Given the description of an element on the screen output the (x, y) to click on. 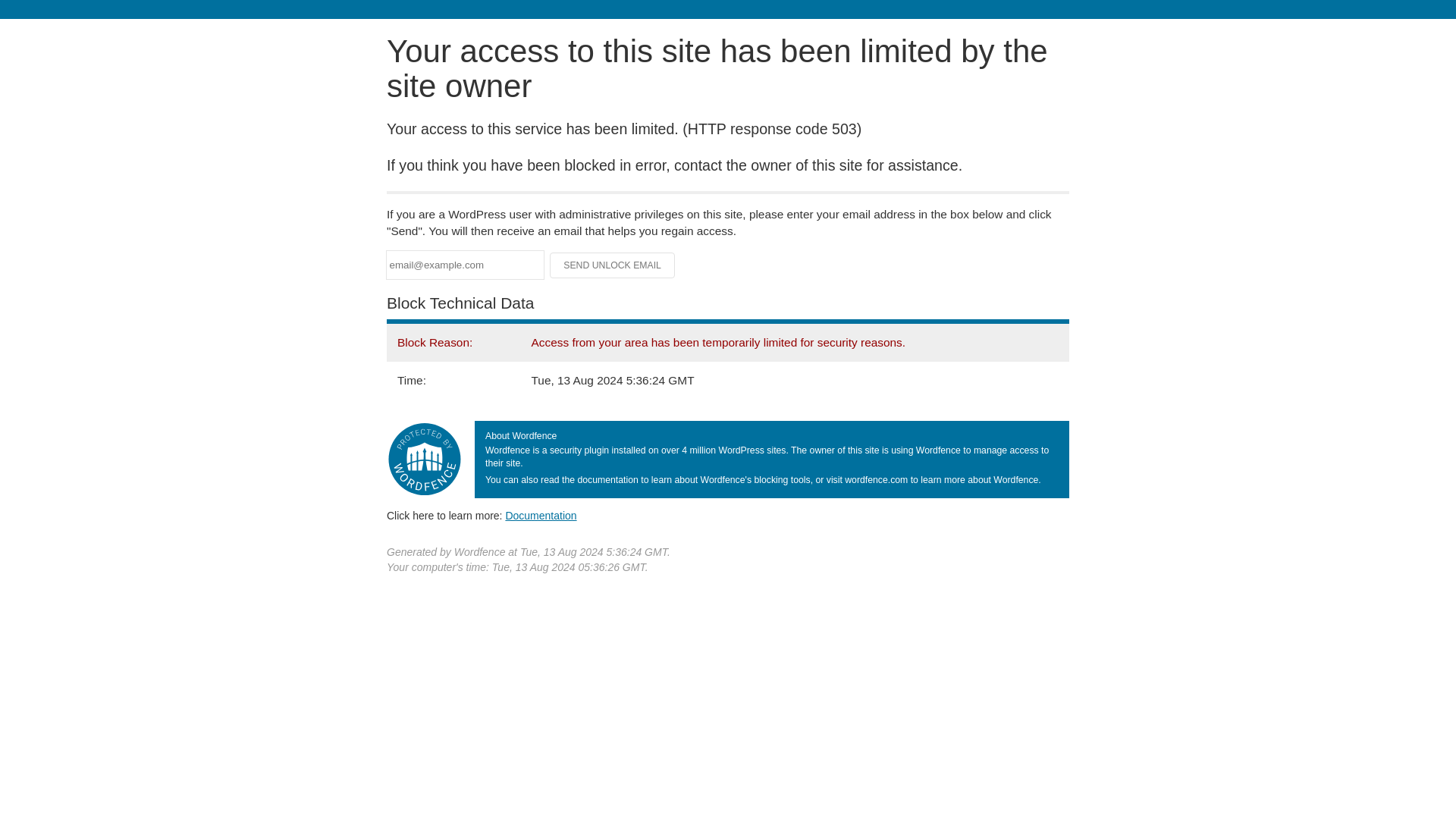
Send Unlock Email (612, 265)
Documentation (540, 515)
Send Unlock Email (612, 265)
